Given the description of an element on the screen output the (x, y) to click on. 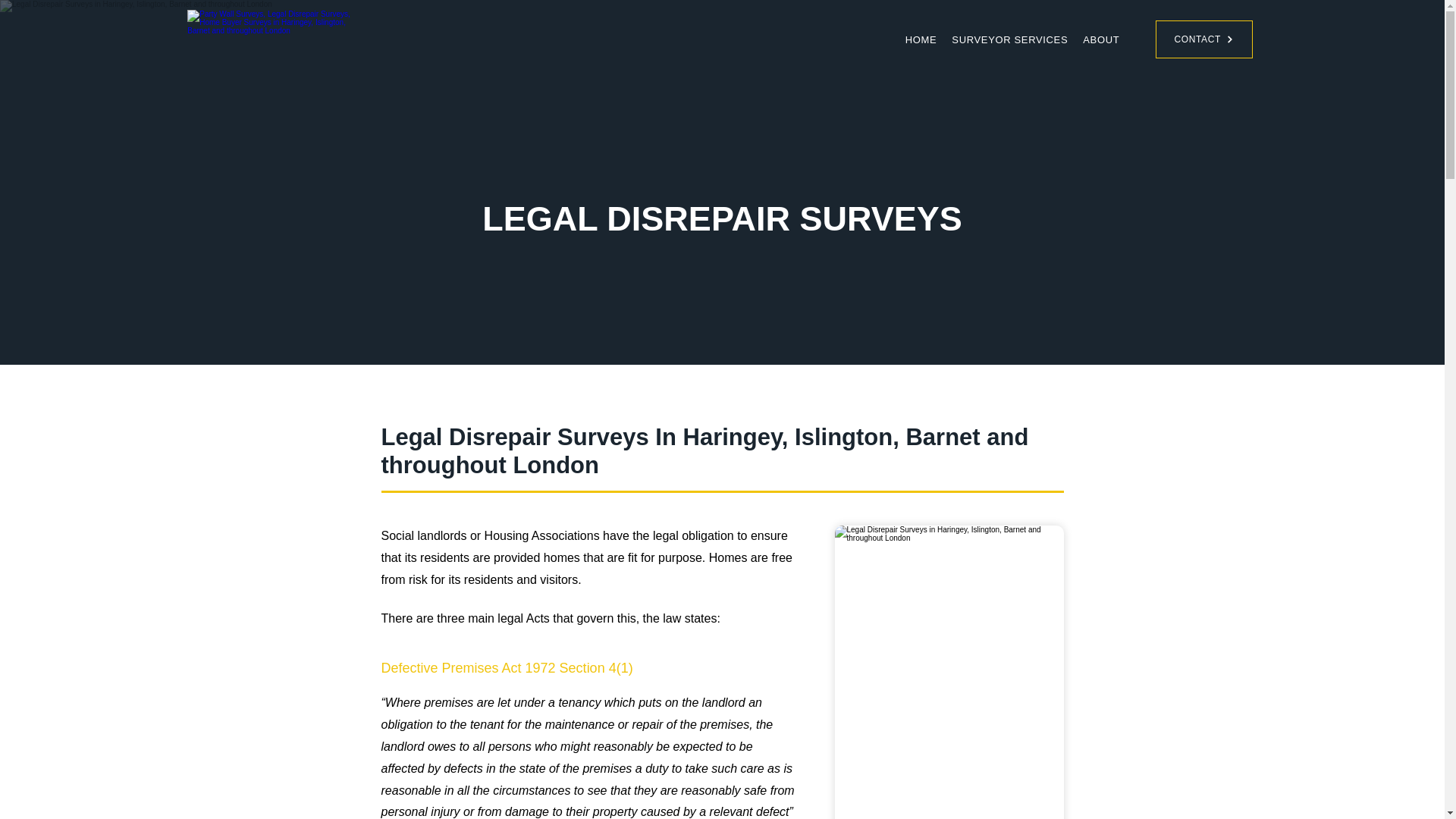
CONTACT (1204, 39)
Tollington Surveyors (278, 39)
HOME (921, 39)
ABOUT (1100, 39)
